Given the description of an element on the screen output the (x, y) to click on. 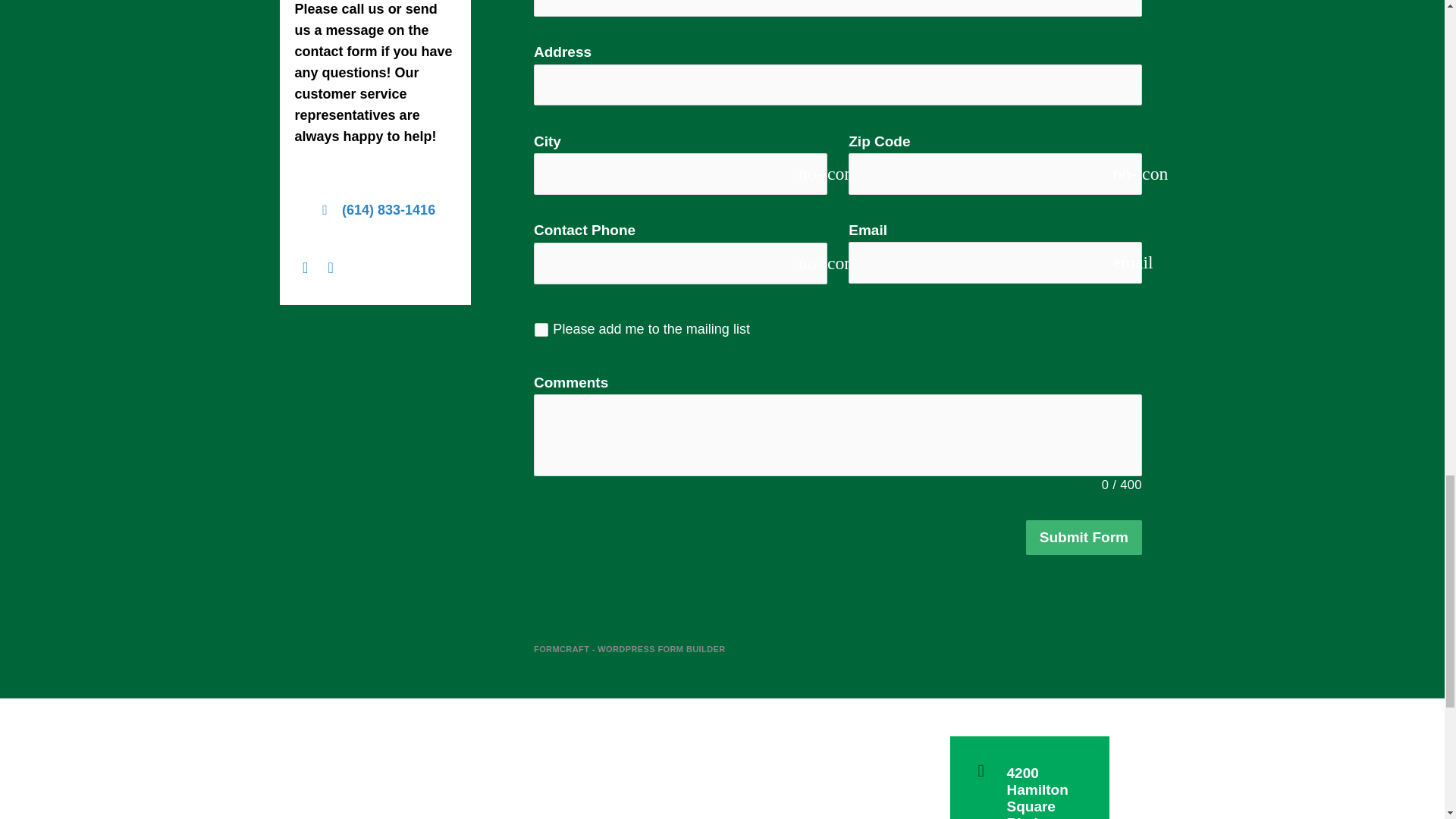
Please add me to the mailing list (541, 329)
FORMCRAFT - WORDPRESS FORM BUILDER (629, 649)
Submit Form (1083, 538)
